Given the description of an element on the screen output the (x, y) to click on. 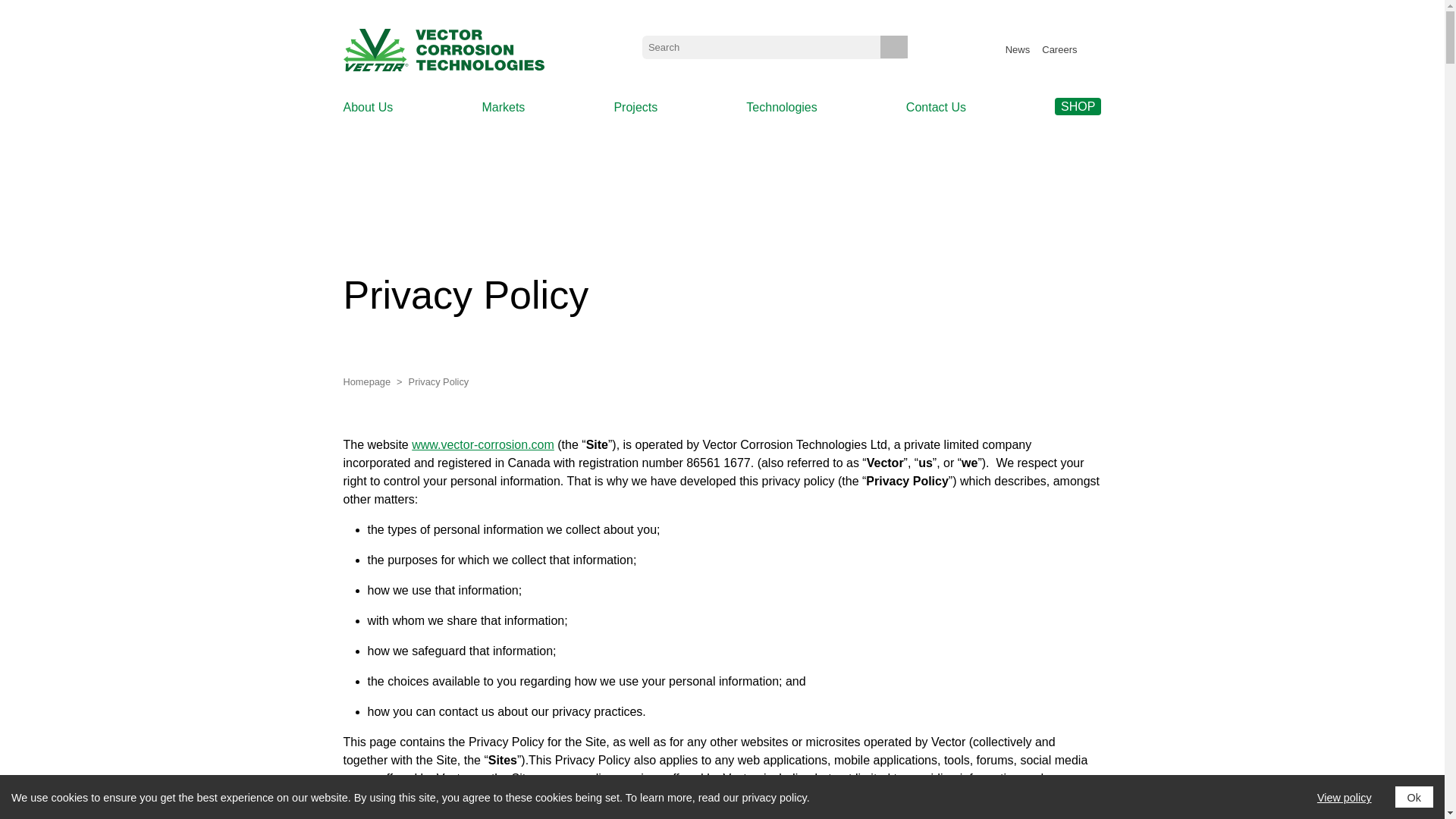
Projects (635, 108)
About Us (367, 108)
News (1018, 50)
View homepage (443, 49)
Technologies (780, 108)
Careers (1059, 50)
Homepage (369, 381)
Markets (502, 108)
